Given the description of an element on the screen output the (x, y) to click on. 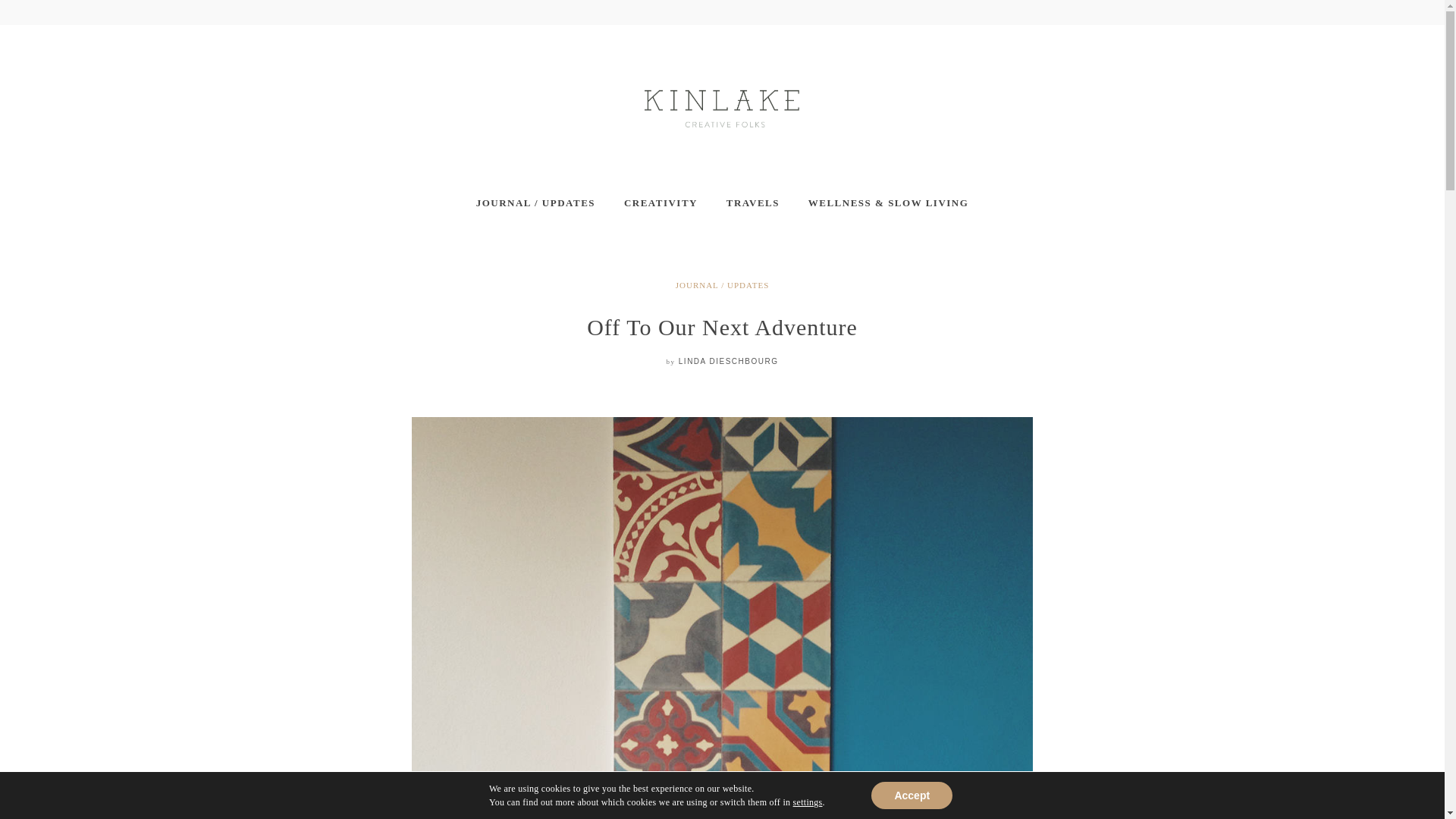
CREATIVITY (660, 202)
TRAVELS (752, 202)
